Given the description of an element on the screen output the (x, y) to click on. 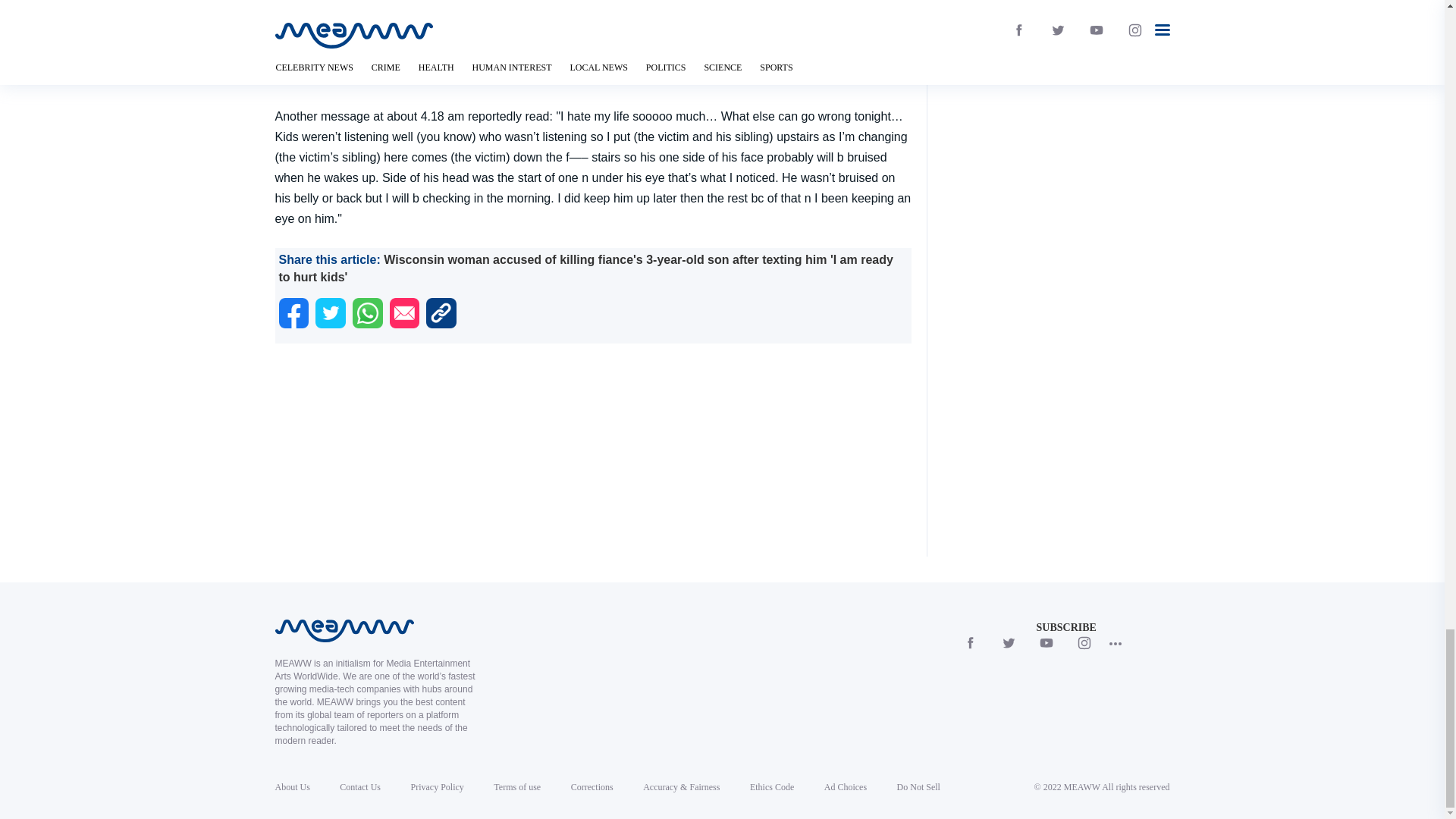
More (1114, 642)
